Given the description of an element on the screen output the (x, y) to click on. 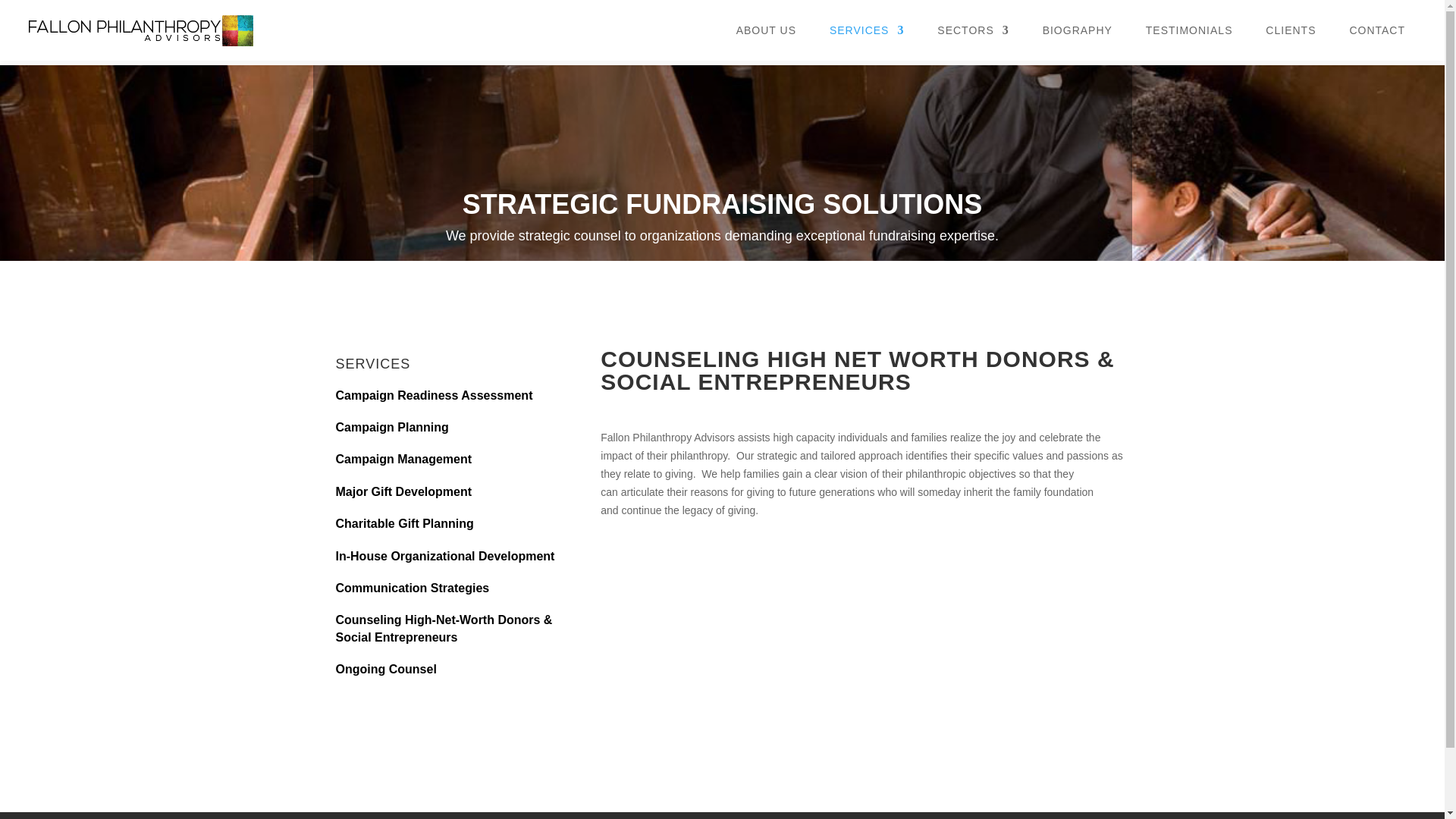
ABOUT US (766, 42)
SERVICES (866, 42)
BIOGRAPHY (1077, 42)
TESTIMONIALS (1189, 42)
SECTORS (973, 42)
CLIENTS (1290, 42)
CONTACT (1377, 42)
